Given the description of an element on the screen output the (x, y) to click on. 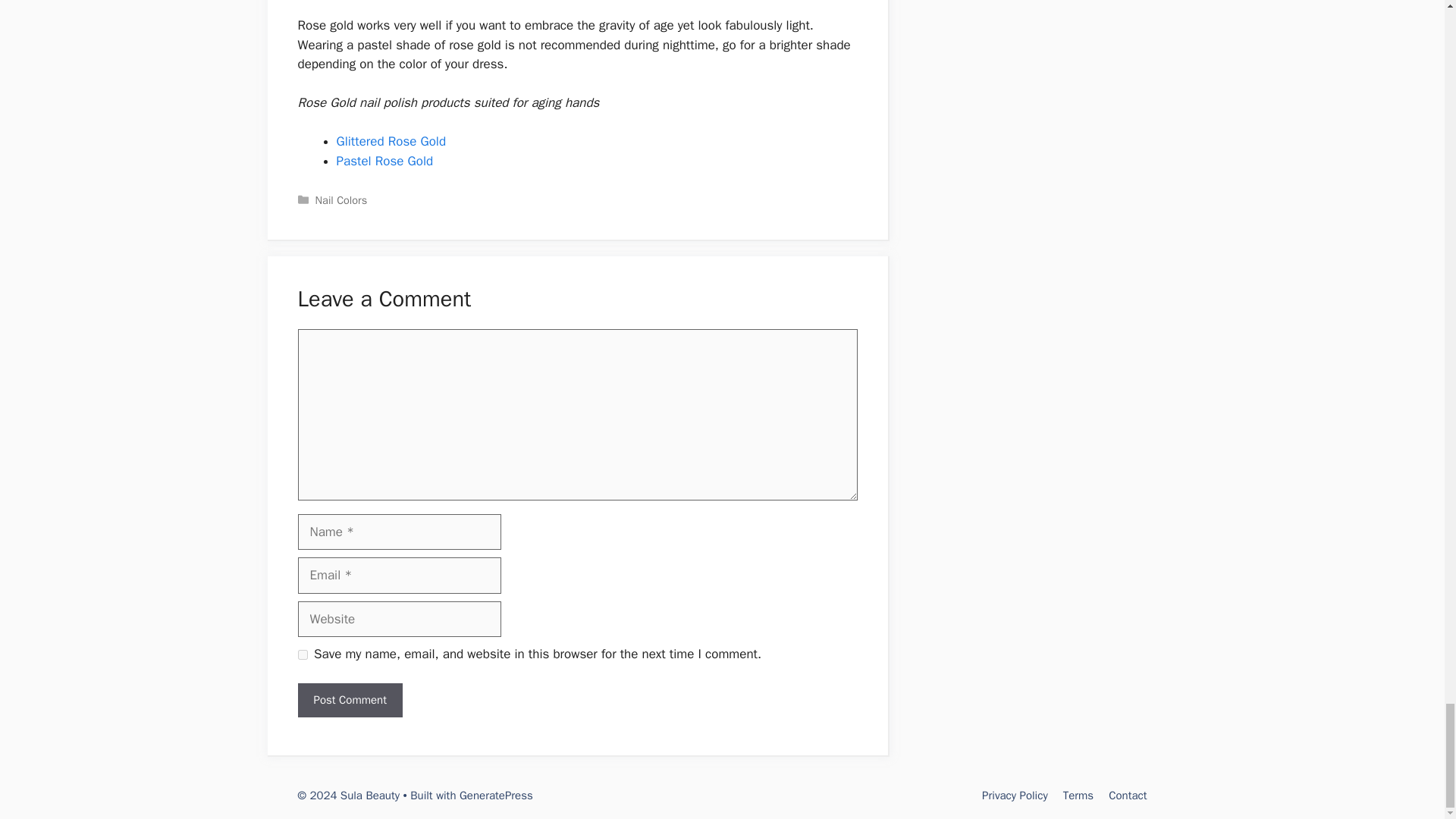
Post Comment (349, 700)
yes (302, 655)
Nail Colors (341, 200)
Pastel Rose Gold (384, 160)
Post Comment (349, 700)
Glittered Rose Gold (391, 141)
